Given the description of an element on the screen output the (x, y) to click on. 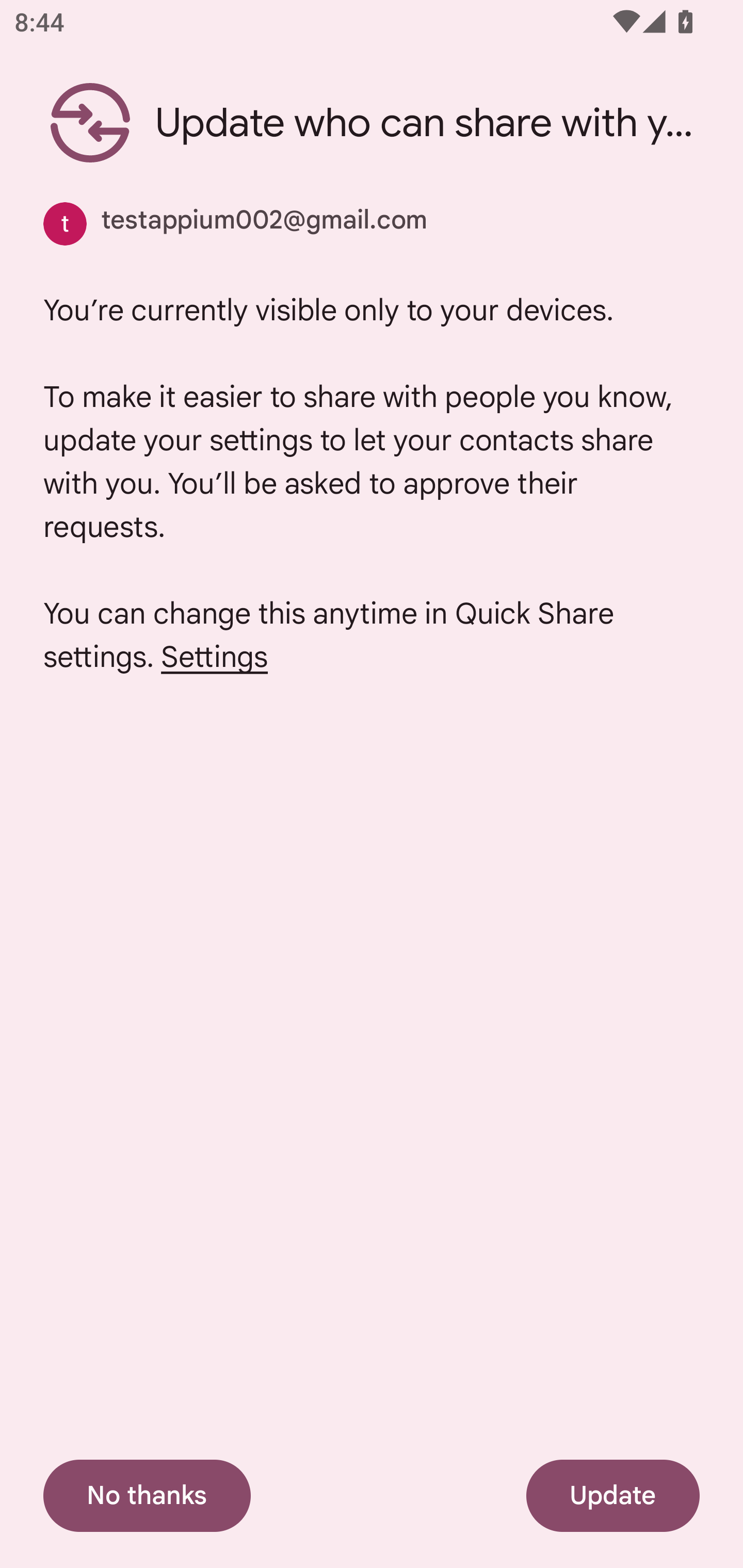
No thanks (147, 1495)
Update (612, 1495)
